Given the description of an element on the screen output the (x, y) to click on. 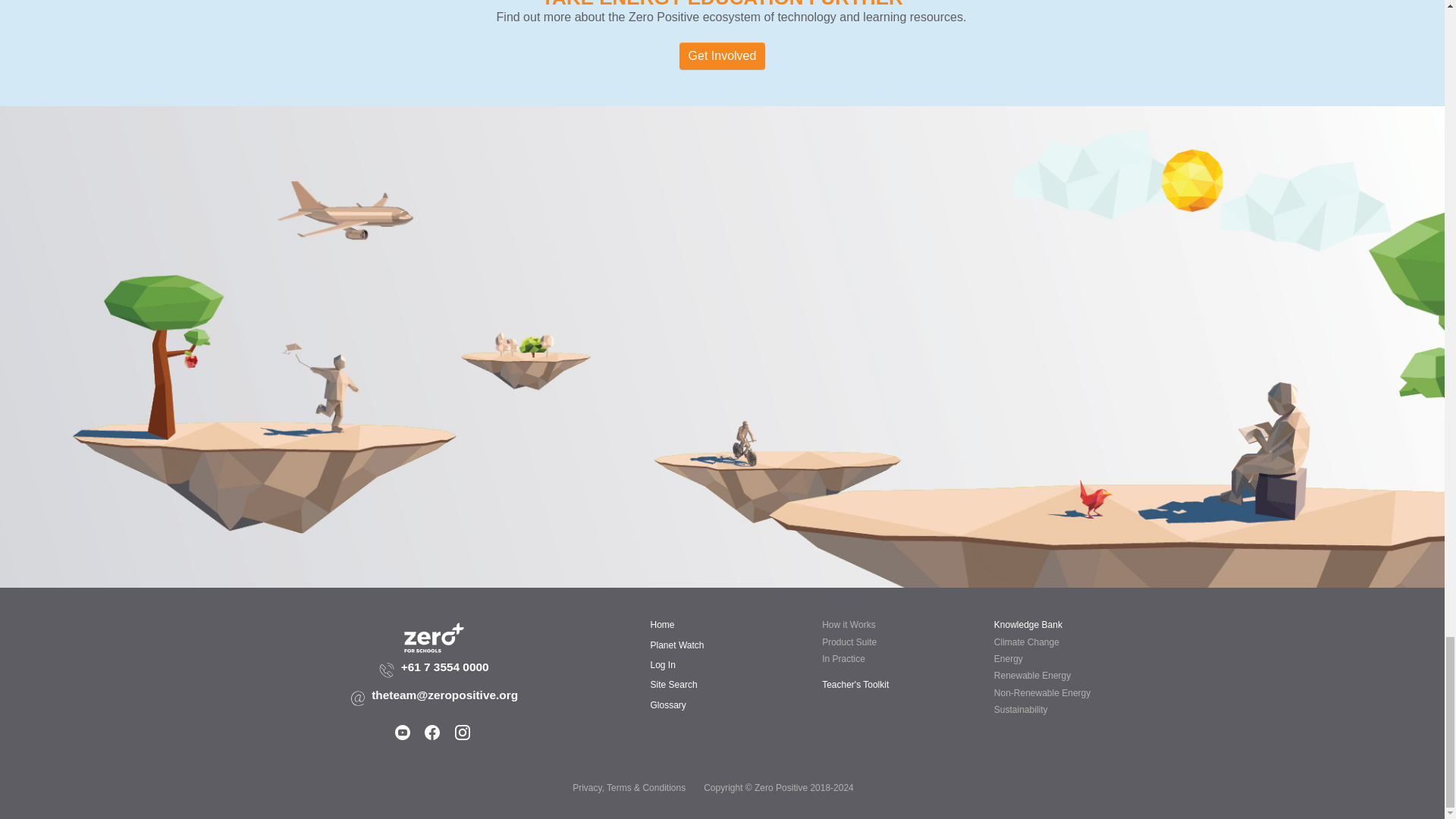
Site Search (673, 684)
Knowledge Bank (1028, 624)
How it Works (848, 624)
Home (662, 624)
Log In (662, 665)
In Practice (843, 658)
Energy (1008, 658)
Glossary (667, 705)
Renewable Energy (1032, 675)
Planet Watch (677, 644)
